Given the description of an element on the screen output the (x, y) to click on. 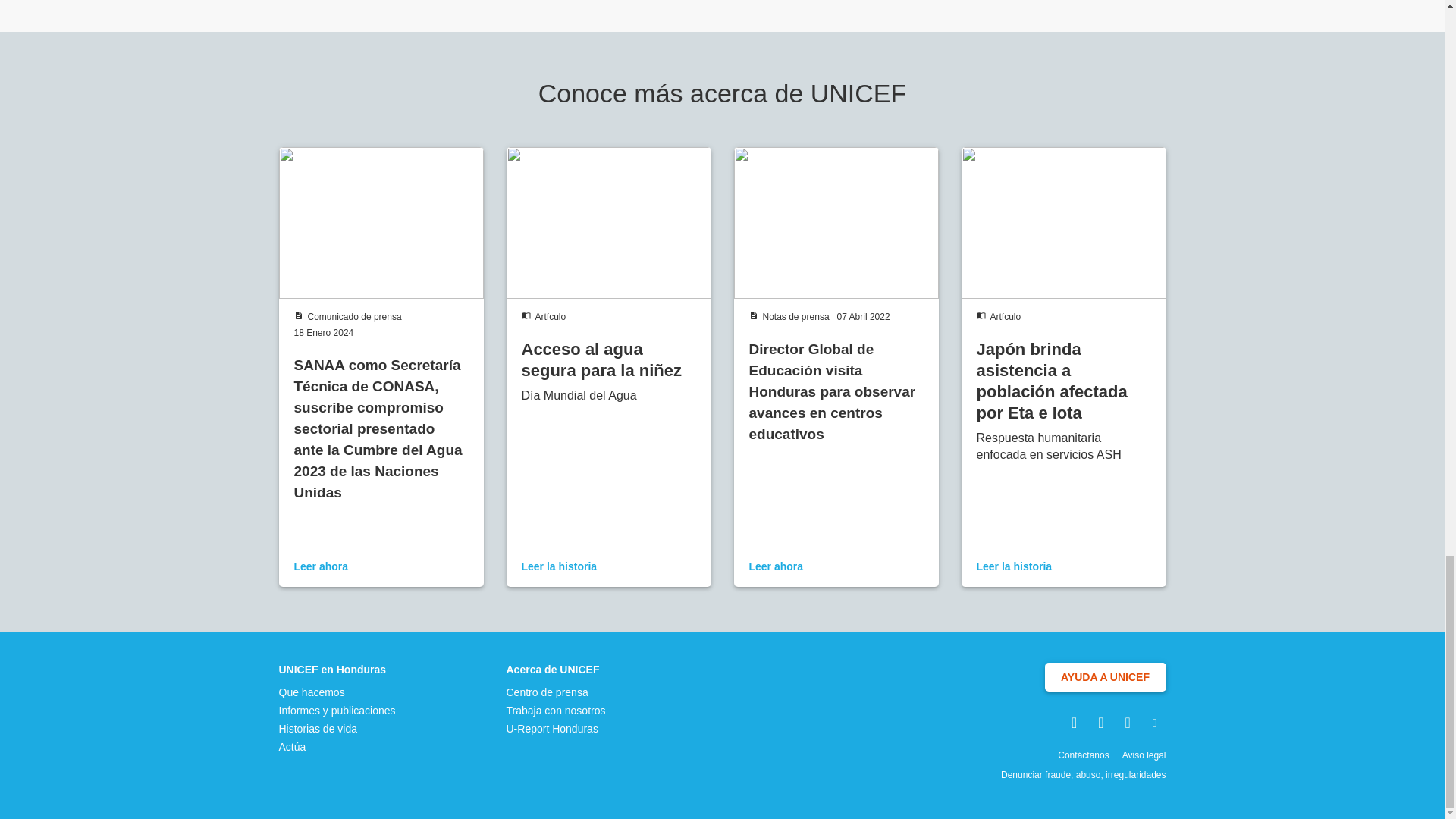
Historias de vida (337, 728)
UNICEF en Honduras (337, 669)
Historias de vida (337, 728)
Informes y publicaciones (337, 710)
Centro de prensa (555, 692)
Trabaja con nosotros (555, 710)
Que hacemos (337, 692)
Informes y publicaciones (337, 710)
Acerca de UNICEF (555, 669)
UNICEF en Honduras (337, 669)
Que hacemos (337, 692)
